Given the description of an element on the screen output the (x, y) to click on. 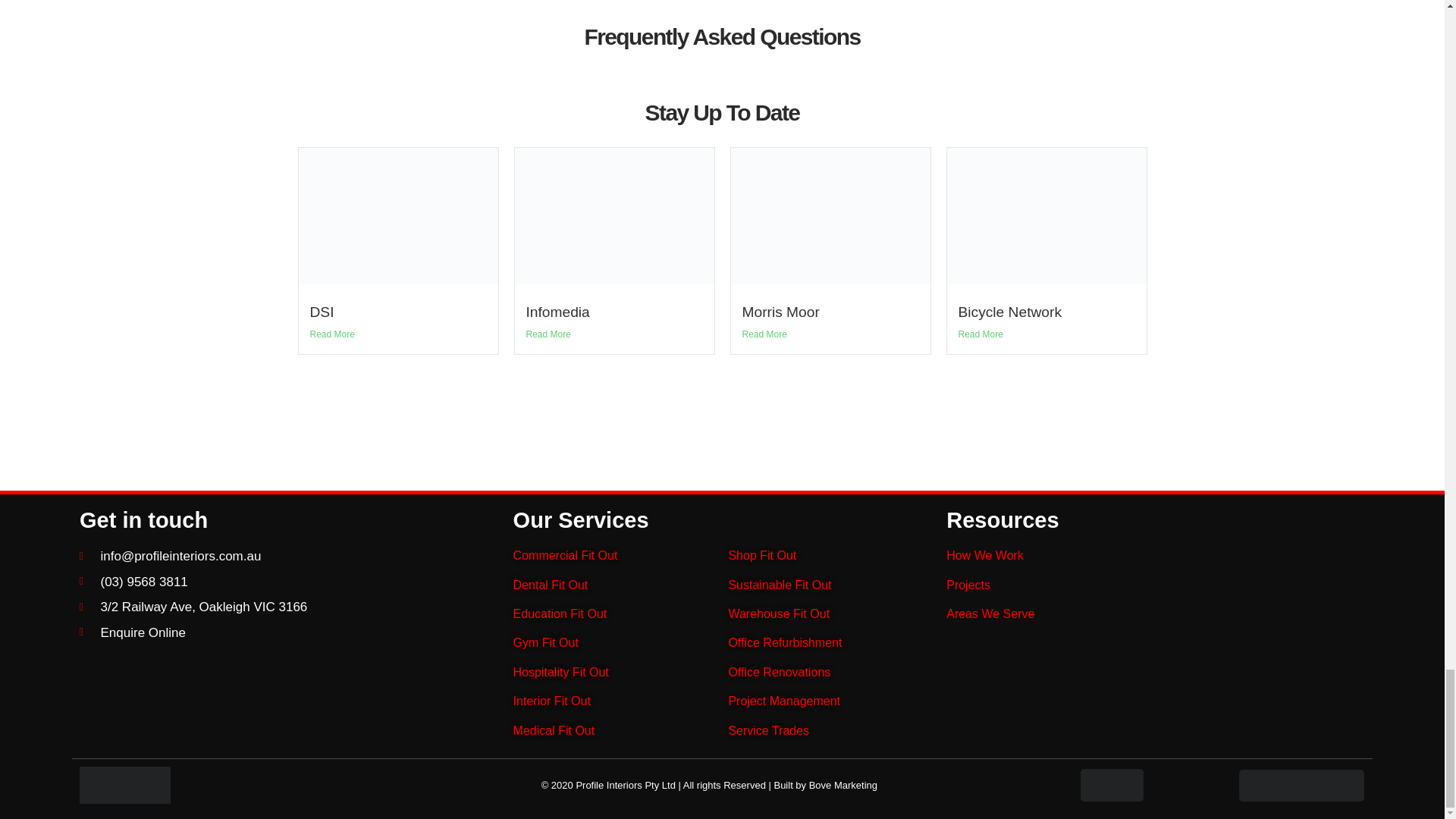
DSI (320, 311)
DSI (320, 311)
Morris Moor (779, 311)
Infomedia (557, 311)
Read More (763, 334)
Bicycle Network (1009, 311)
Morris Moor (779, 311)
Read More (330, 334)
Infomedia (557, 311)
Read More (980, 334)
Bicycle Network (1009, 311)
Read More (547, 334)
